Given the description of an element on the screen output the (x, y) to click on. 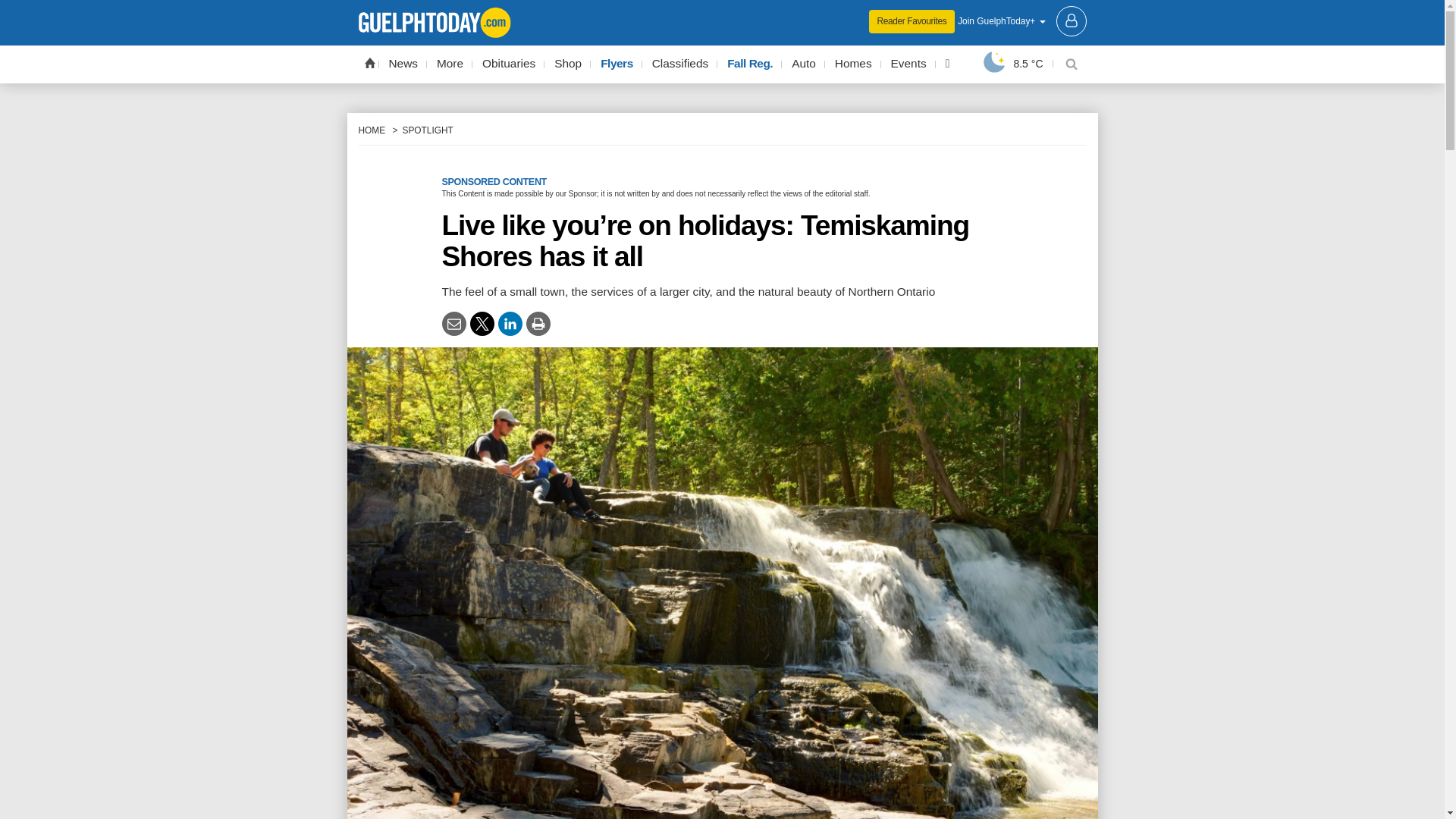
Home (368, 62)
Reader Favourites (912, 21)
News (403, 64)
